Given the description of an element on the screen output the (x, y) to click on. 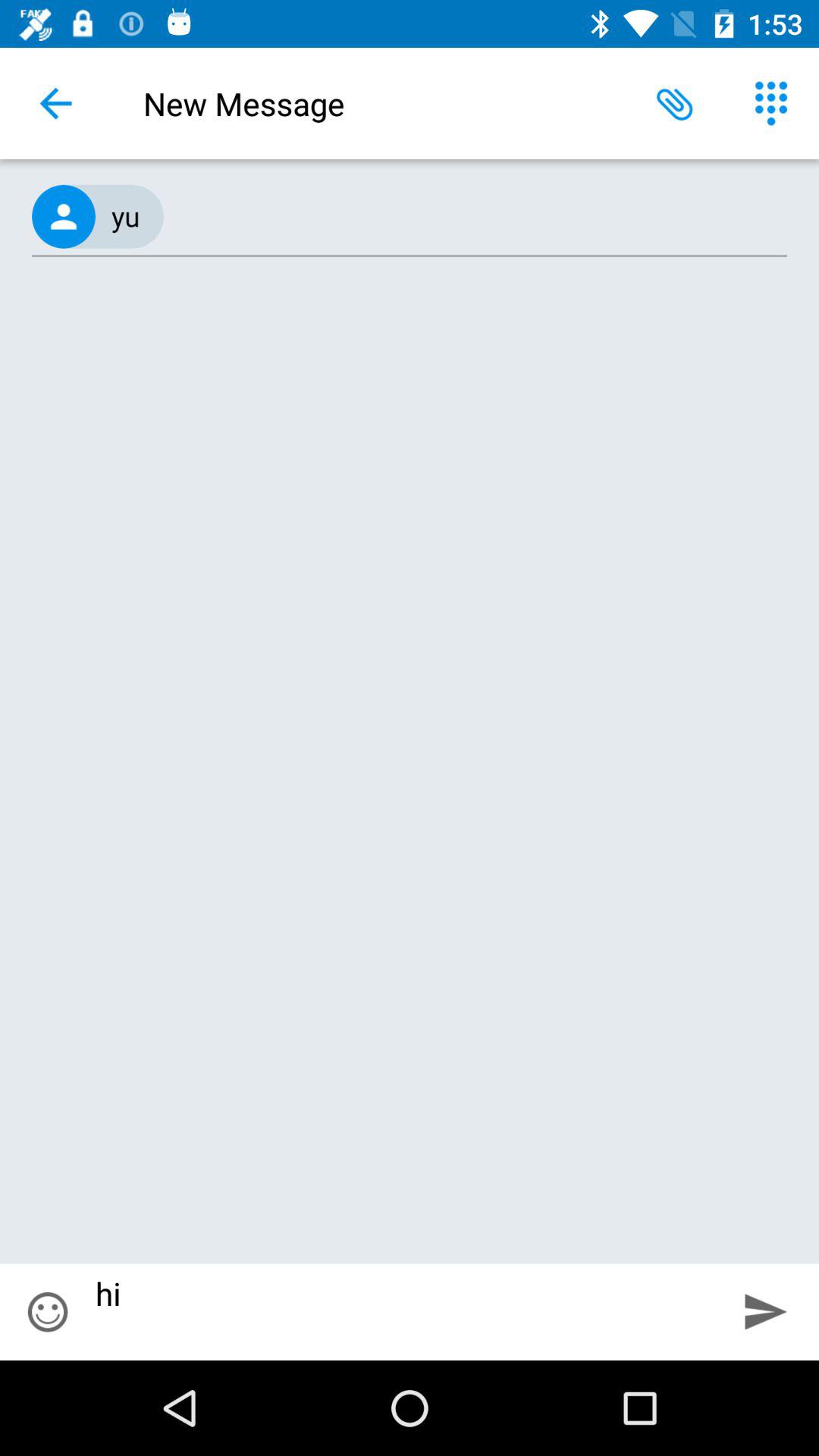
jump until the (667) 676-5778,  item (409, 216)
